Given the description of an element on the screen output the (x, y) to click on. 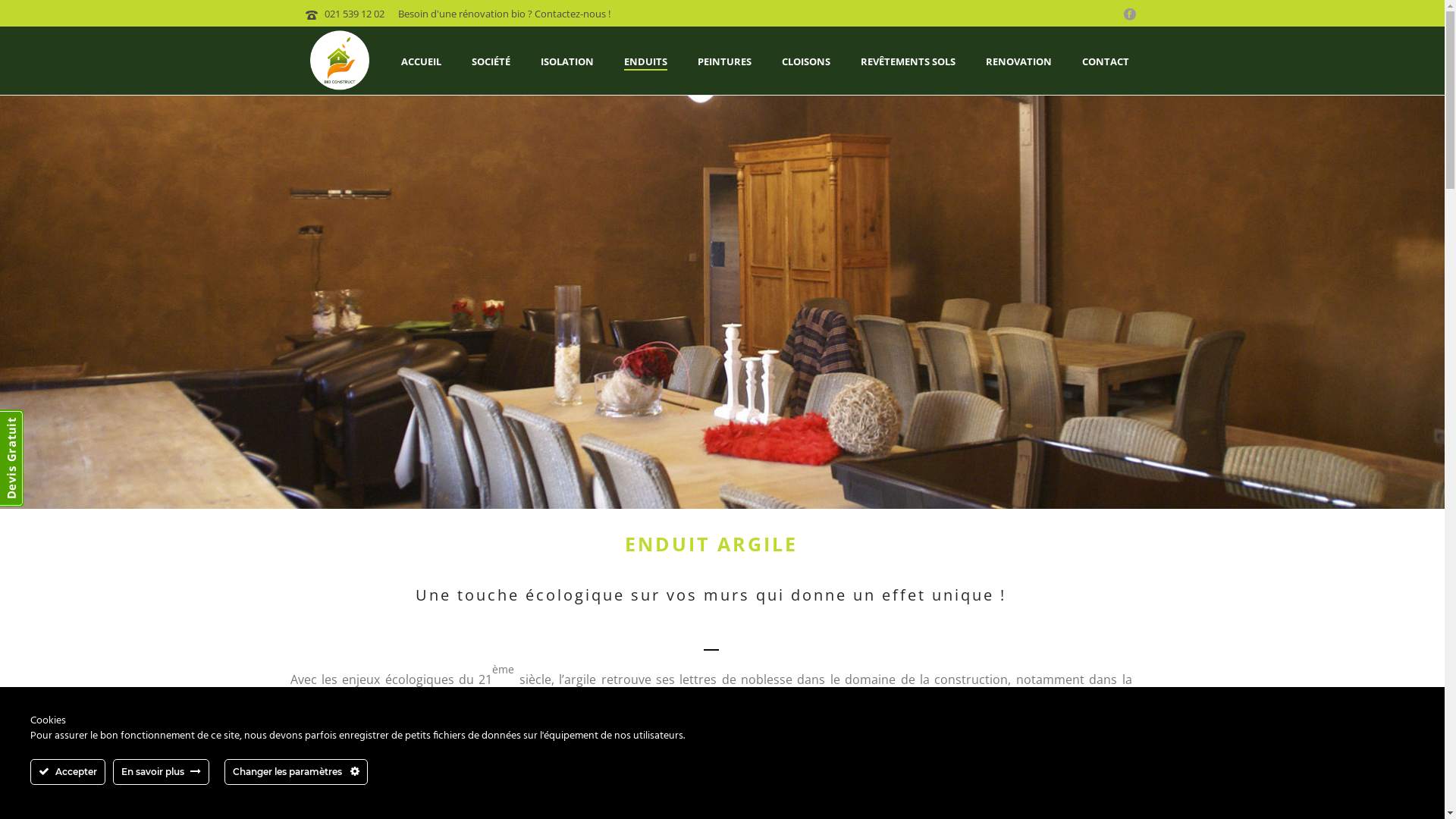
CONTACT Element type: text (1104, 61)
RENOVATION Element type: text (1018, 61)
ACCUEIL Element type: text (420, 61)
CLOISONS Element type: text (804, 61)
PEINTURES Element type: text (724, 61)
ISOLATION Element type: text (566, 61)
ENDUITS Element type: text (644, 61)
021 539 12 02 Element type: text (354, 13)
